Given the description of an element on the screen output the (x, y) to click on. 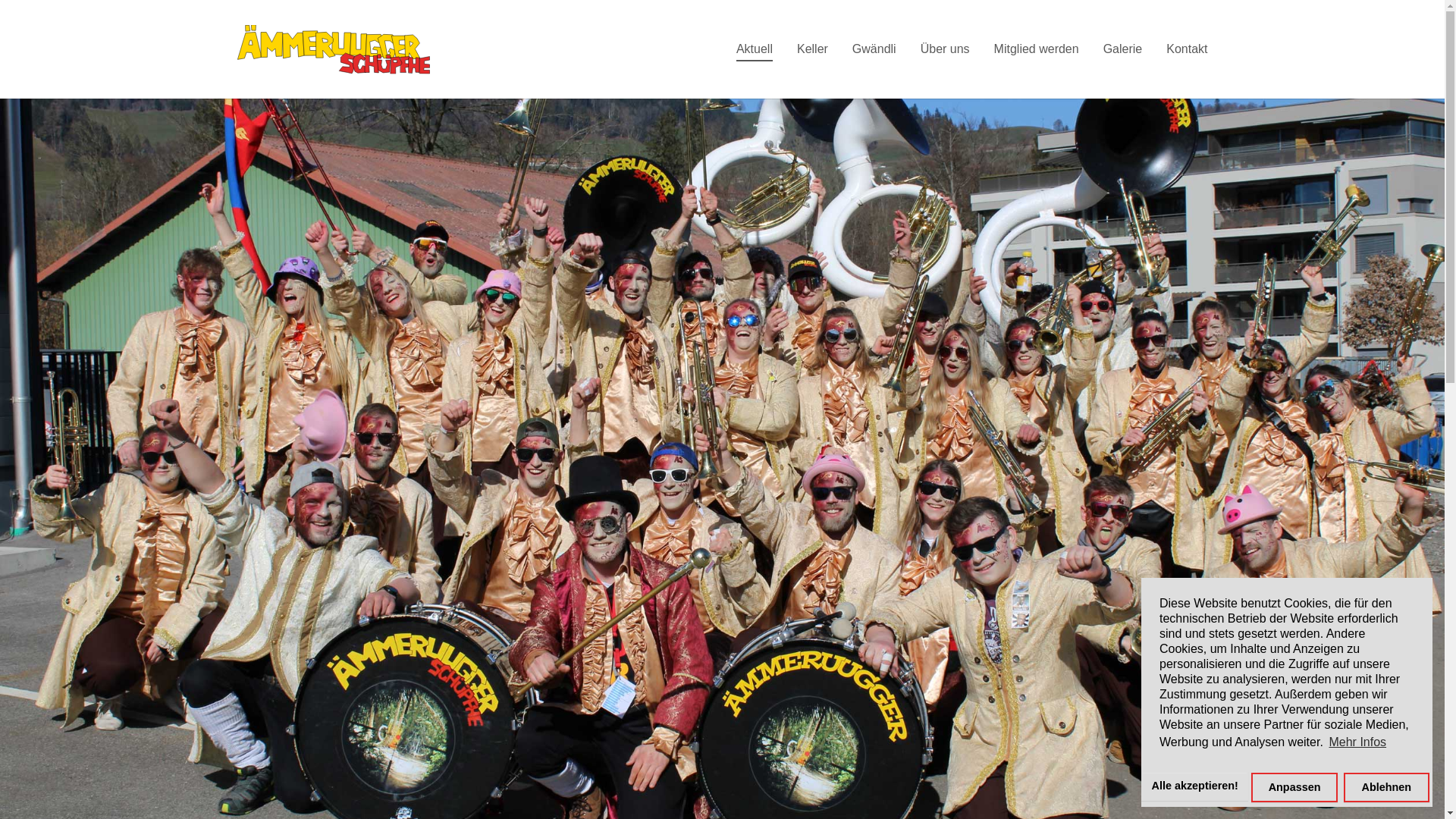
Mitglied werden Element type: text (1036, 49)
Mehr Infos Element type: text (1357, 742)
Anpassen Element type: text (1293, 786)
Ablehnen Element type: text (1386, 786)
Galerie Element type: text (1122, 49)
Aktuell
((current)) Element type: text (754, 49)
Alle akzeptieren! Element type: text (1194, 785)
Kontakt Element type: text (1186, 49)
Keller Element type: text (812, 49)
